Given the description of an element on the screen output the (x, y) to click on. 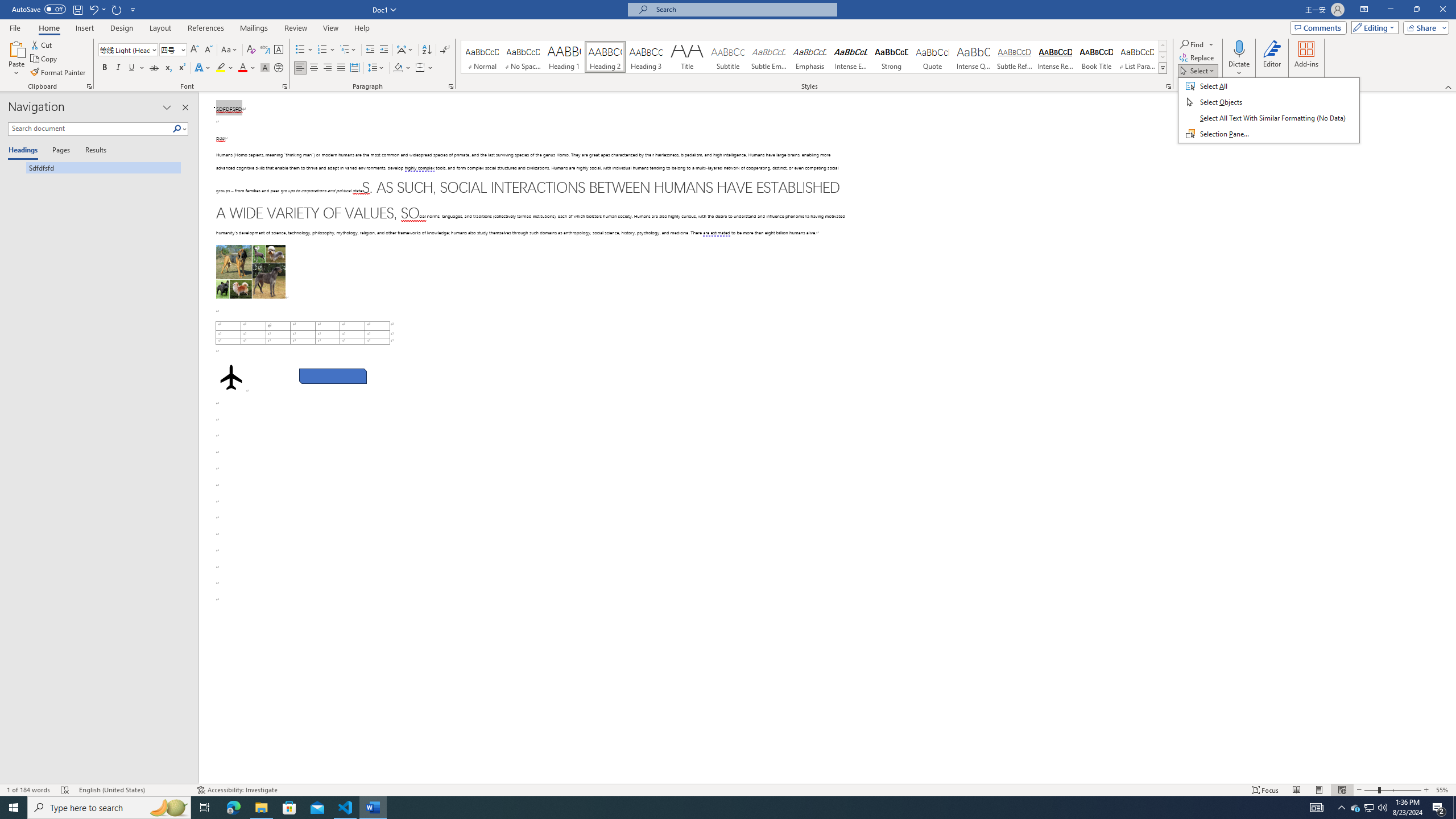
Zoom 55% (1443, 790)
Emphasis (809, 56)
